Given the description of an element on the screen output the (x, y) to click on. 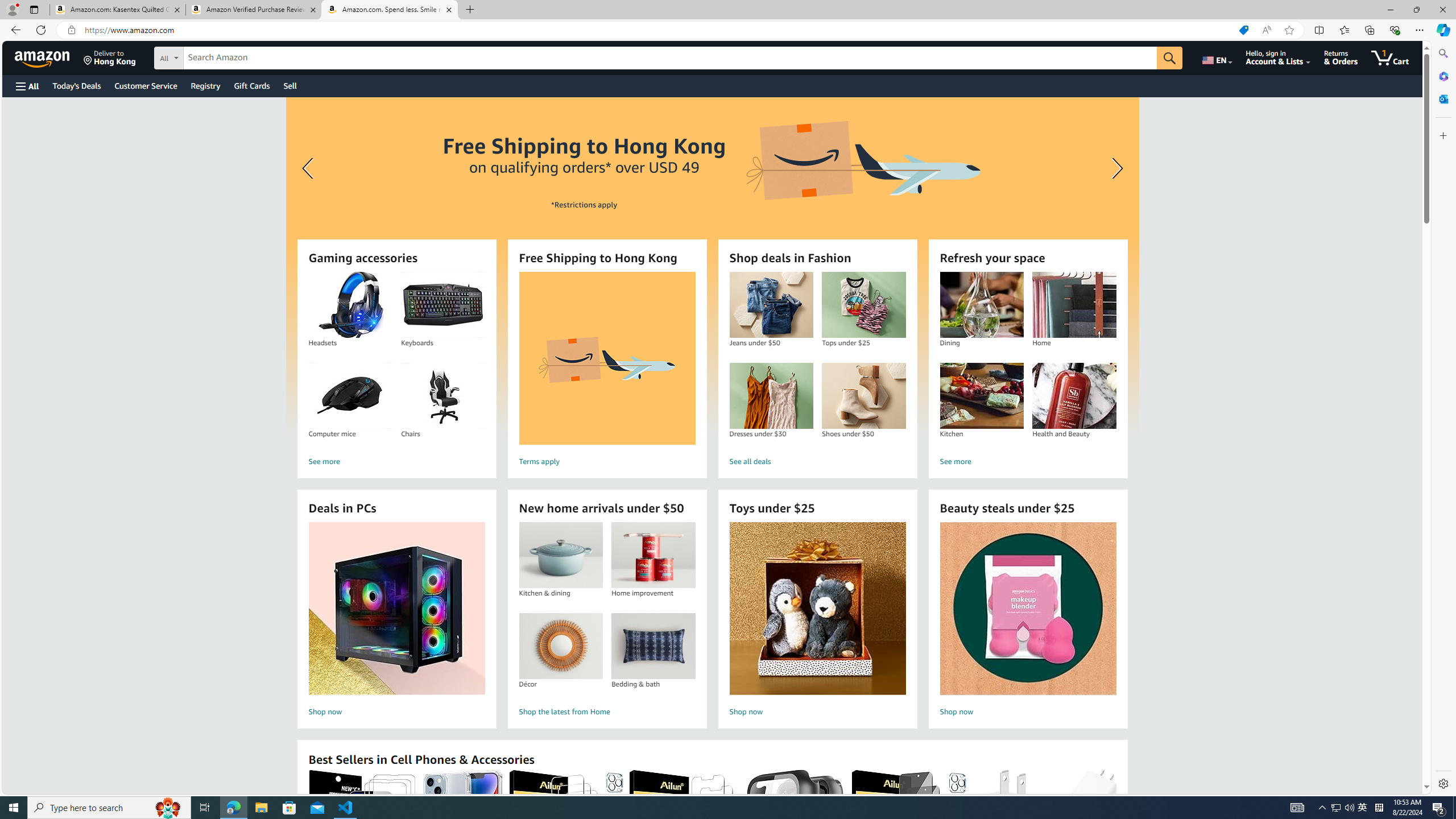
Dresses under $30 (771, 395)
Customer Service (145, 85)
Skip to main content (48, 56)
Kitchen (981, 395)
Toys under $25 (818, 608)
Amazon Verified Purchase Reviews - Amazon Customer Service (253, 9)
Amazon (43, 57)
